Given the description of an element on the screen output the (x, y) to click on. 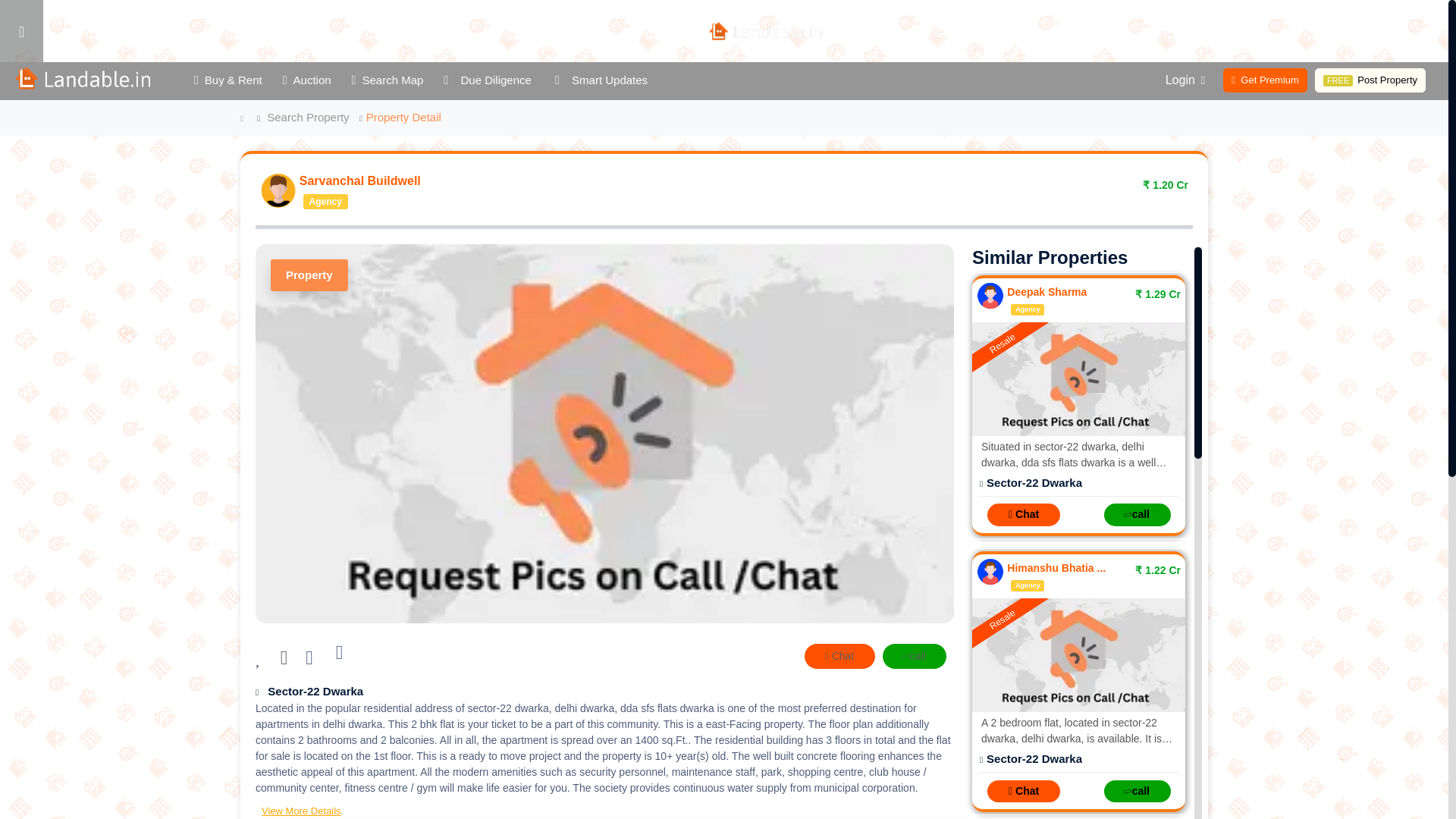
Login (62, 18)
2 Bhk Apartment In Sector-22 Dwarka (1078, 654)
2 Bhk Apartment In Sector-22 Dwarka (1078, 378)
Save as Bookmark (311, 659)
